Given the description of an element on the screen output the (x, y) to click on. 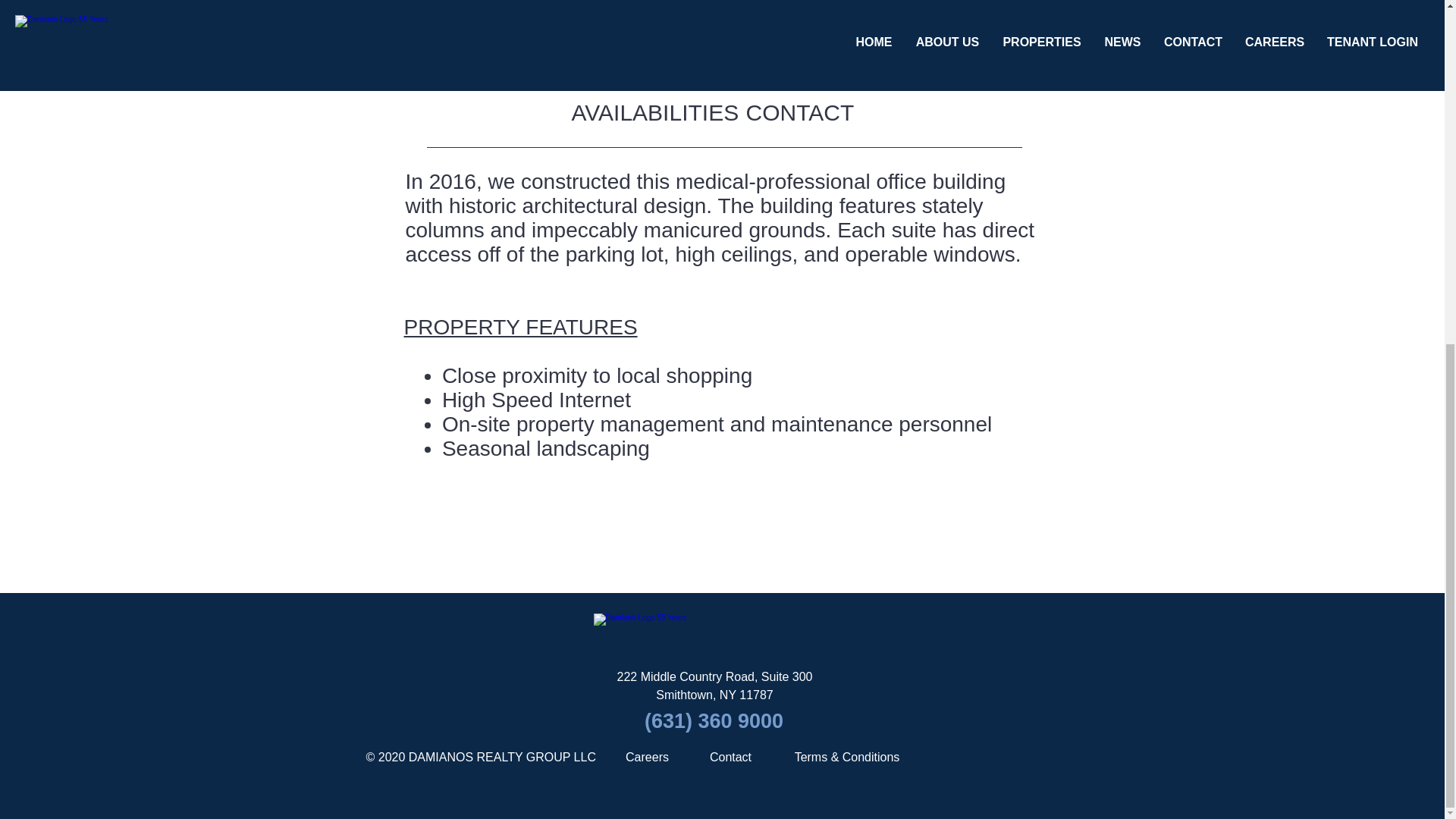
Careers (646, 757)
AVAILABILITIES (654, 112)
CONTACT (799, 112)
Contact (730, 757)
